Given the description of an element on the screen output the (x, y) to click on. 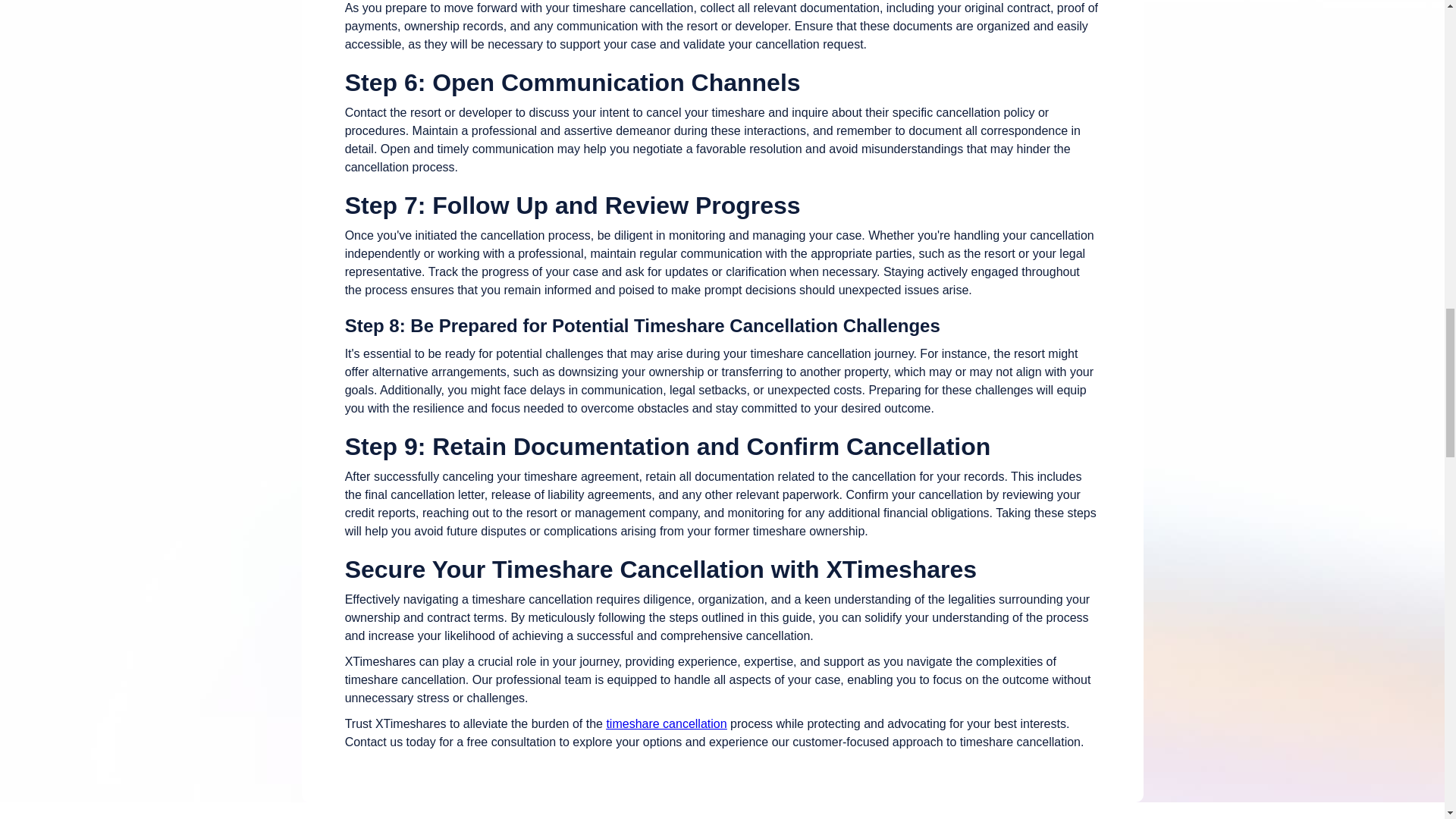
timeshare cancellation (665, 723)
